Given the description of an element on the screen output the (x, y) to click on. 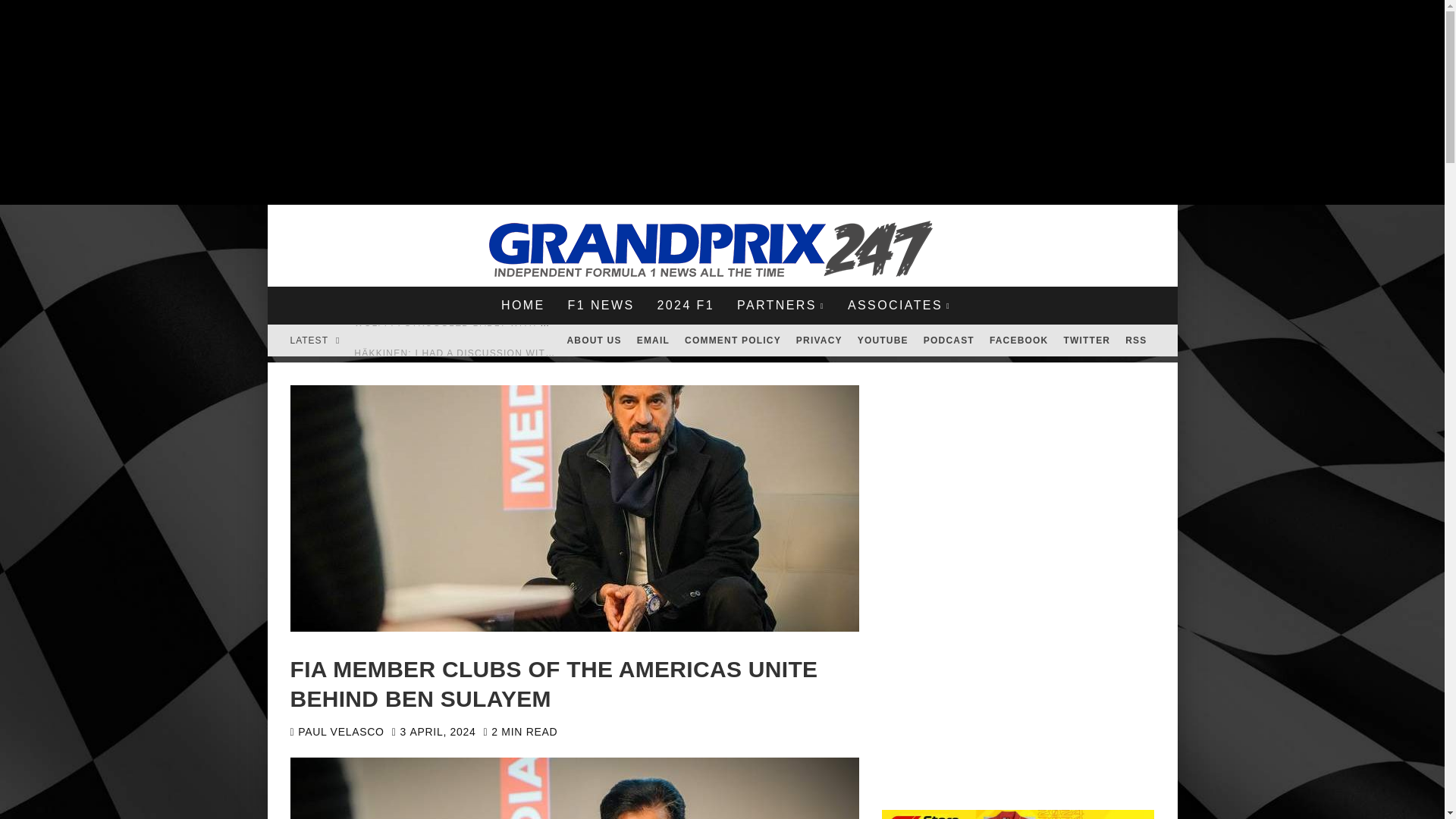
FACEBOOK (1019, 340)
ASSOCIATES (898, 305)
PRIVACY (819, 340)
COMMENT POLICY (733, 340)
EMAIL (652, 340)
Wolff: I struggled badly with mental health issues (509, 322)
HOME (522, 305)
WOLFF: I STRUGGLED BADLY WITH MENTAL HEALTH ISSUES (509, 322)
YOUTUBE (882, 340)
PARTNERS (780, 305)
